Given the description of an element on the screen output the (x, y) to click on. 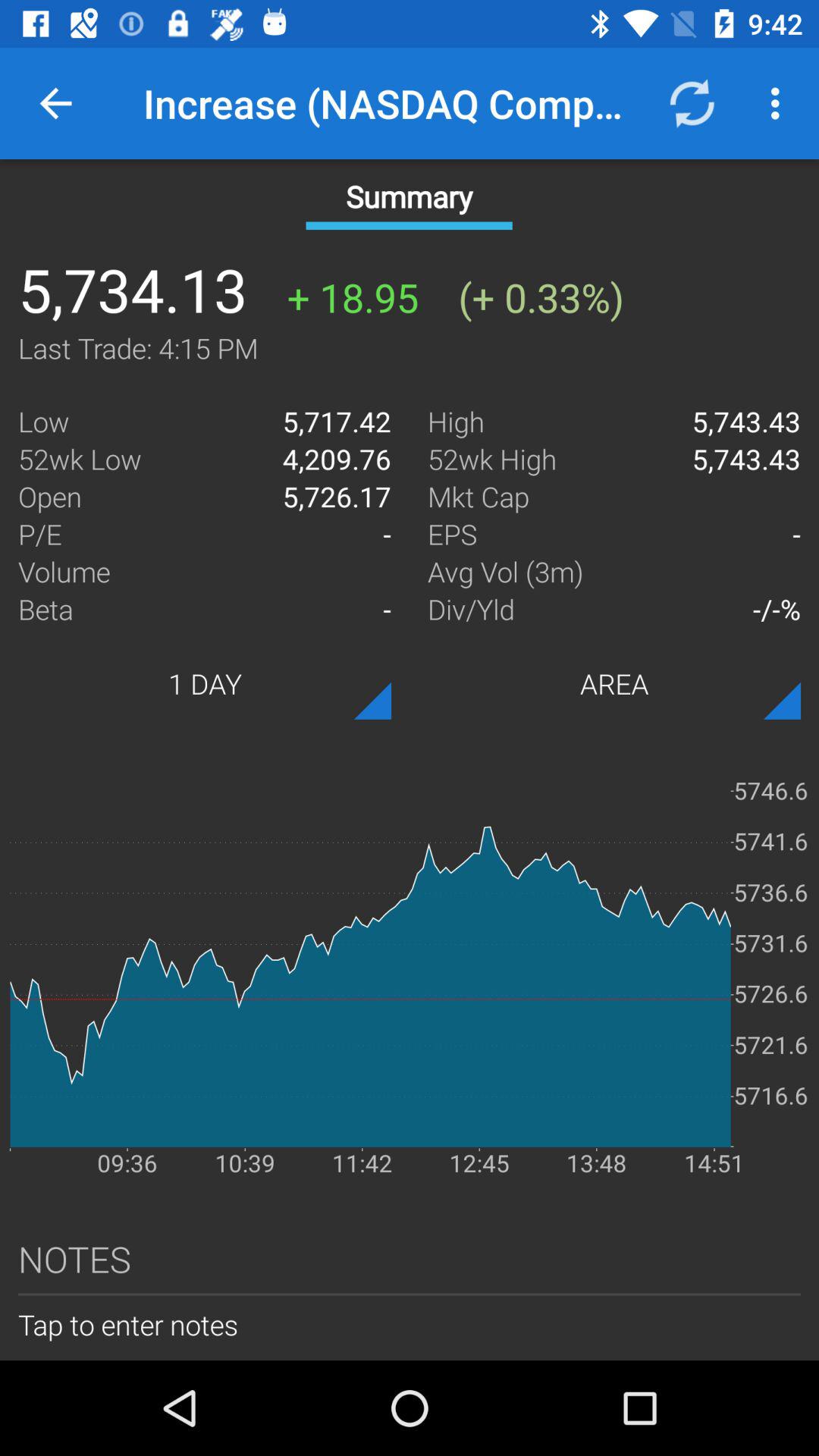
choose item next to increase (nasdaq composite) icon (55, 103)
